Given the description of an element on the screen output the (x, y) to click on. 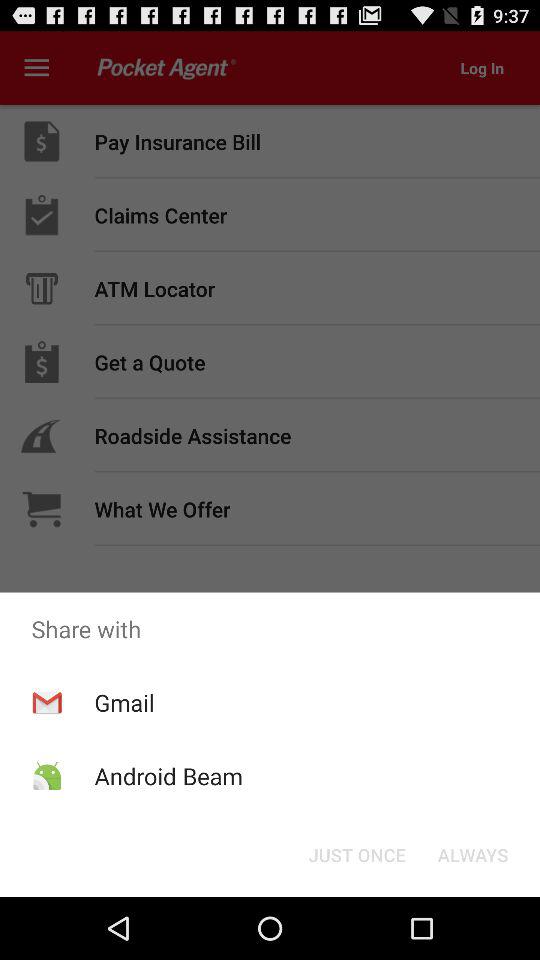
jump until just once button (356, 854)
